Given the description of an element on the screen output the (x, y) to click on. 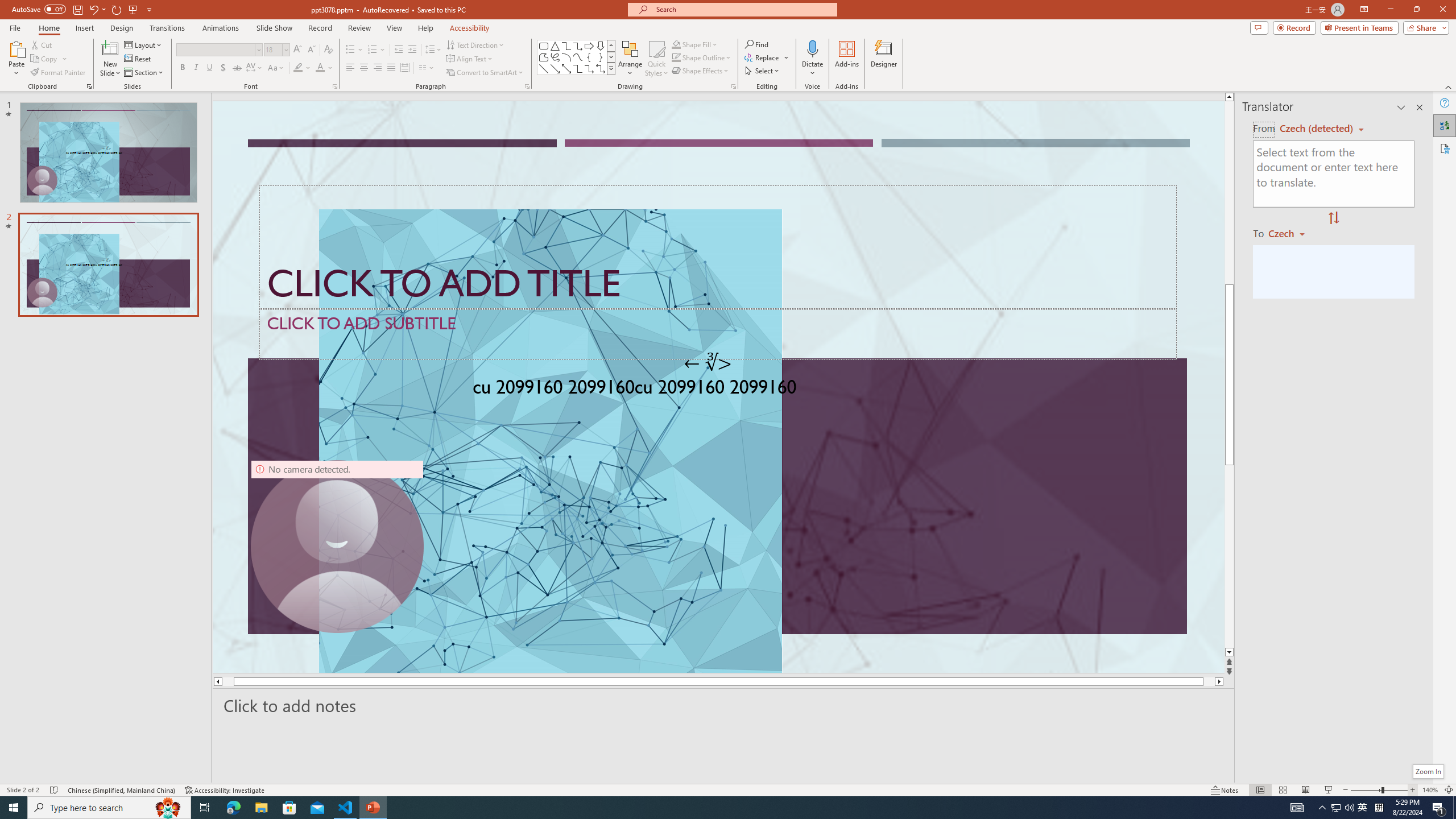
Shape Outline Green, Accent 1 (675, 56)
